Given the description of an element on the screen output the (x, y) to click on. 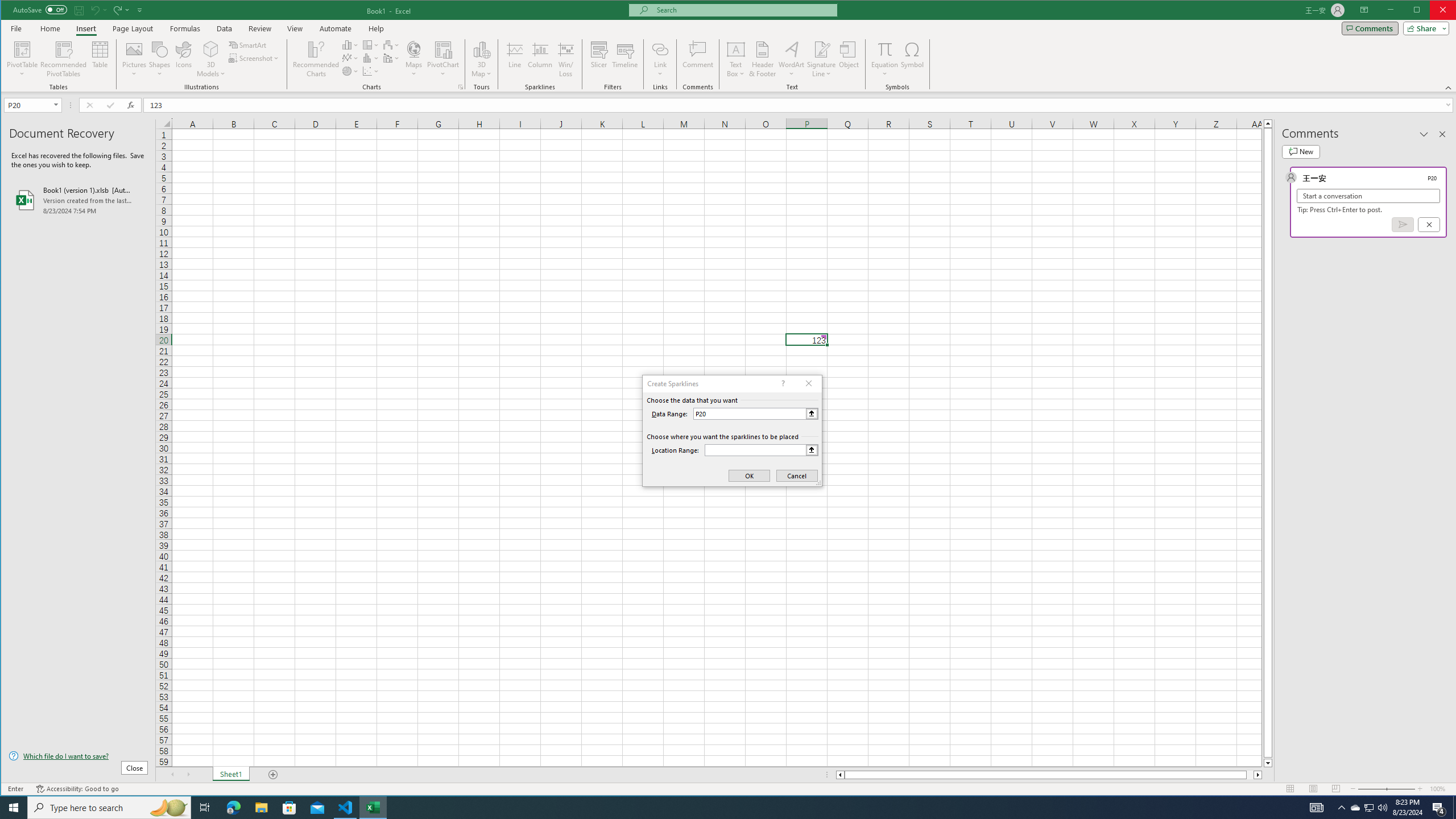
Post comment (Ctrl + Enter) (1402, 224)
View (294, 28)
PivotTable (22, 59)
SmartArt... (248, 44)
Zoom In (1420, 788)
Open (56, 105)
Icons (183, 59)
Link (659, 59)
Comment (697, 59)
Insert Column or Bar Chart (350, 44)
AutoSave (39, 9)
Object... (848, 59)
